Given the description of an element on the screen output the (x, y) to click on. 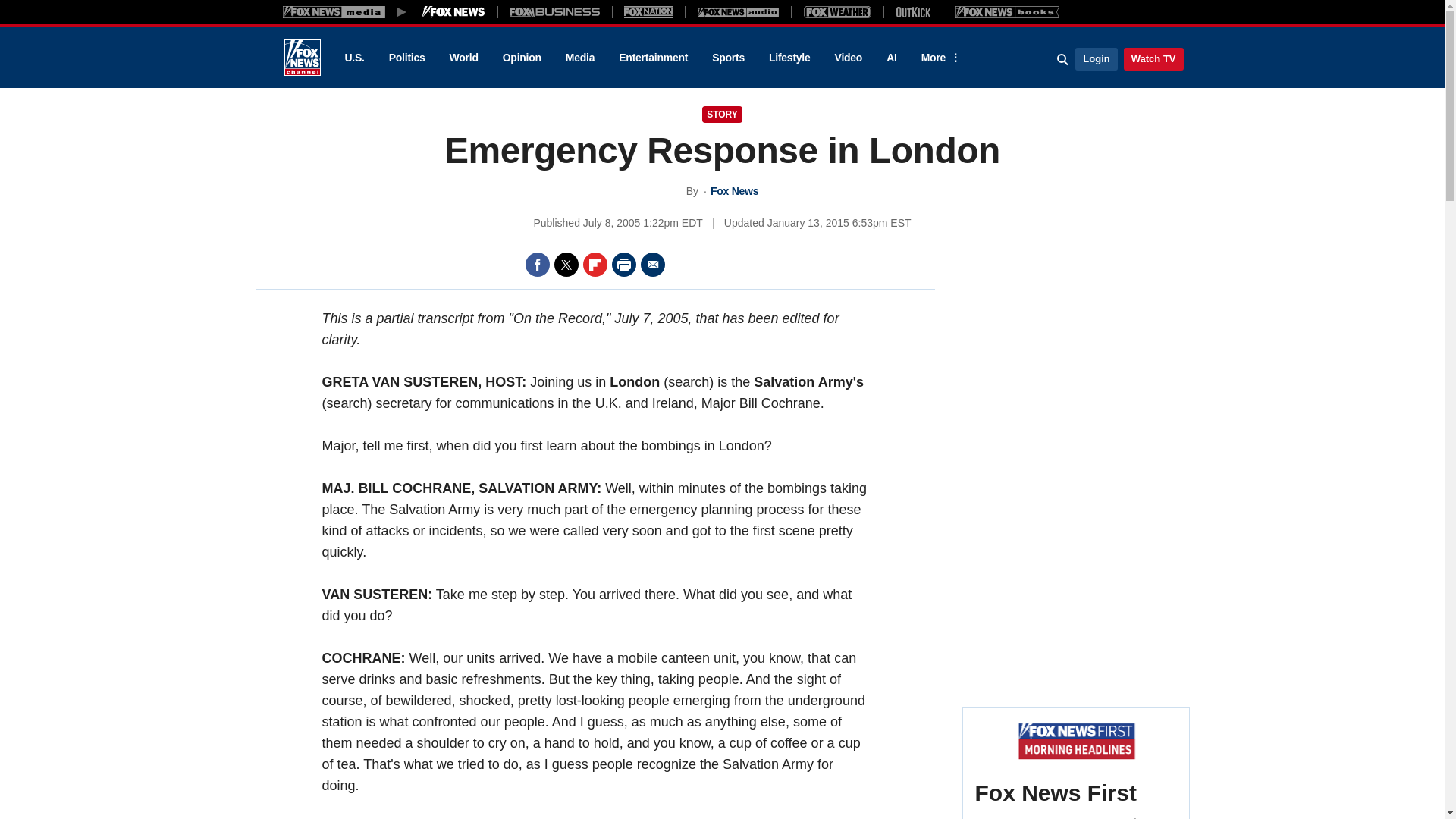
Media (580, 57)
Lifestyle (789, 57)
Video (848, 57)
Opinion (521, 57)
U.S. (353, 57)
Fox News Media (453, 11)
AI (891, 57)
Politics (407, 57)
Fox News Audio (737, 11)
Fox Business (554, 11)
